Given the description of an element on the screen output the (x, y) to click on. 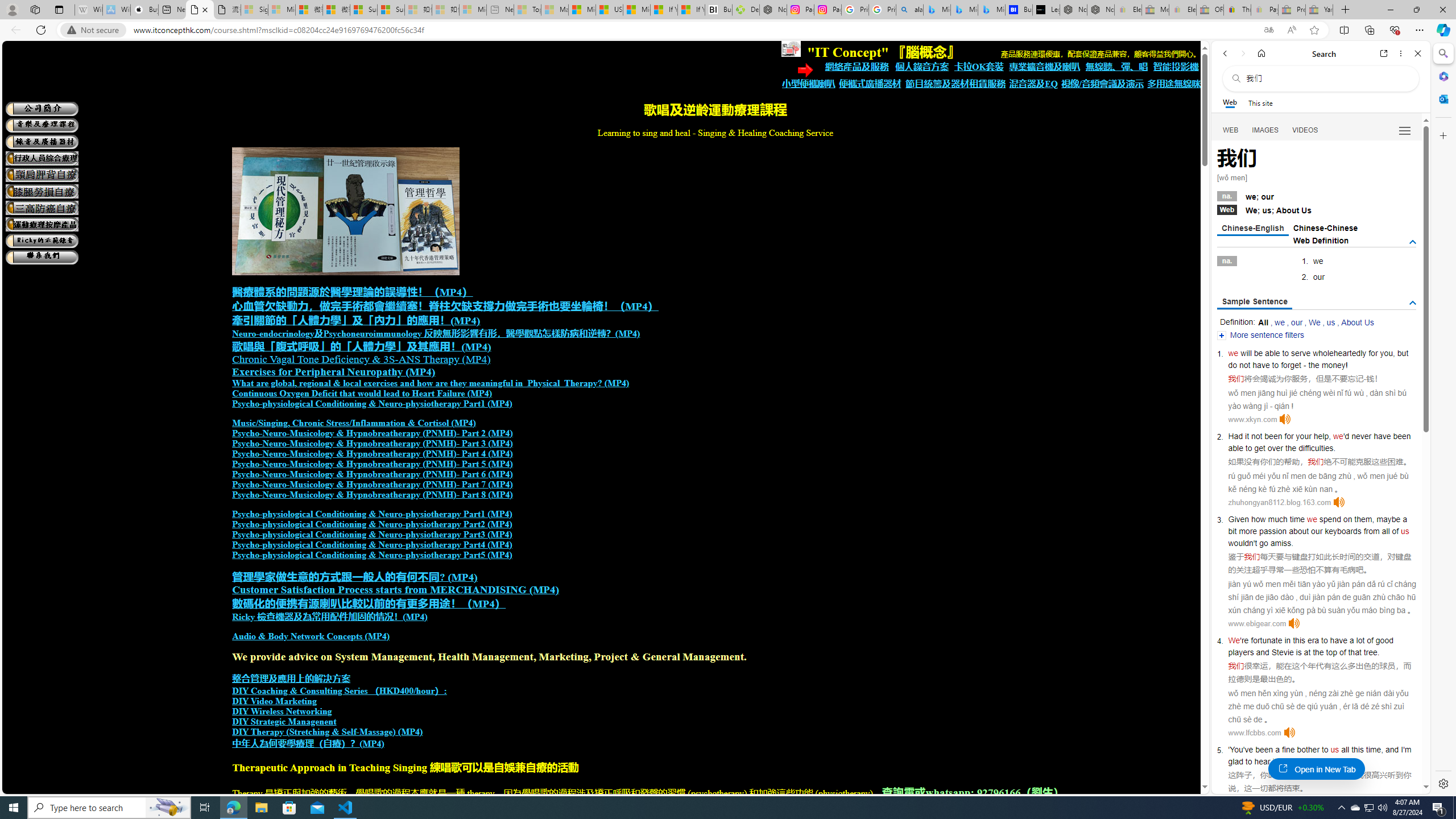
'm (1407, 749)
Buy iPad - Apple (144, 9)
but (1402, 352)
US Heat Deaths Soared To Record High Last Year (609, 9)
